Given the description of an element on the screen output the (x, y) to click on. 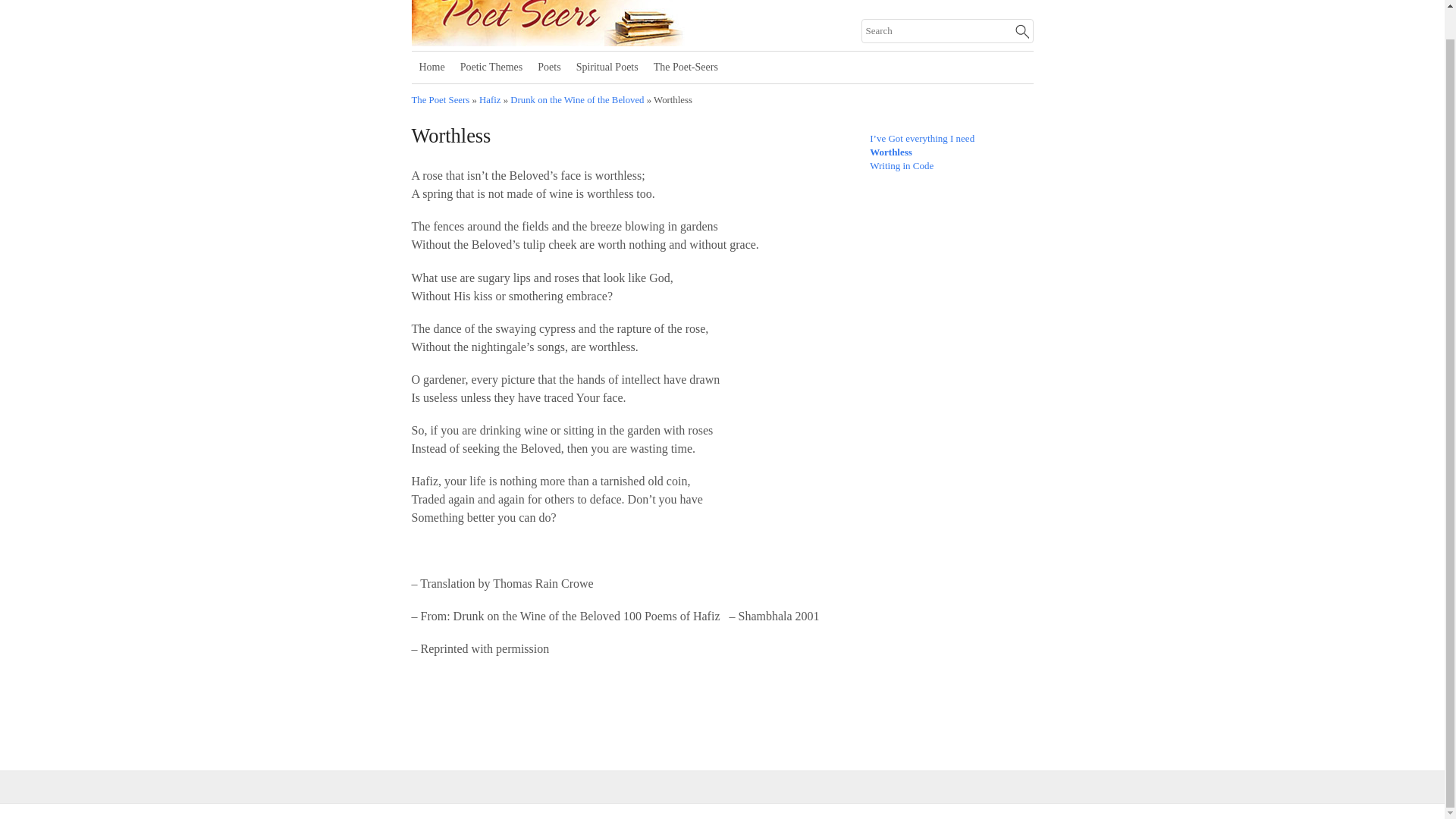
Drunk on the Wine of the Beloved (577, 100)
Search (947, 30)
The Poet-Seers (685, 66)
Poet Seers (598, 41)
Worthless (890, 152)
Poets (548, 66)
Spiritual Poets (607, 66)
Writing in Code (901, 165)
Poetic Themes (491, 66)
Search (947, 30)
The Poet Seers (439, 100)
Home (430, 66)
Hafiz (489, 100)
